Given the description of an element on the screen output the (x, y) to click on. 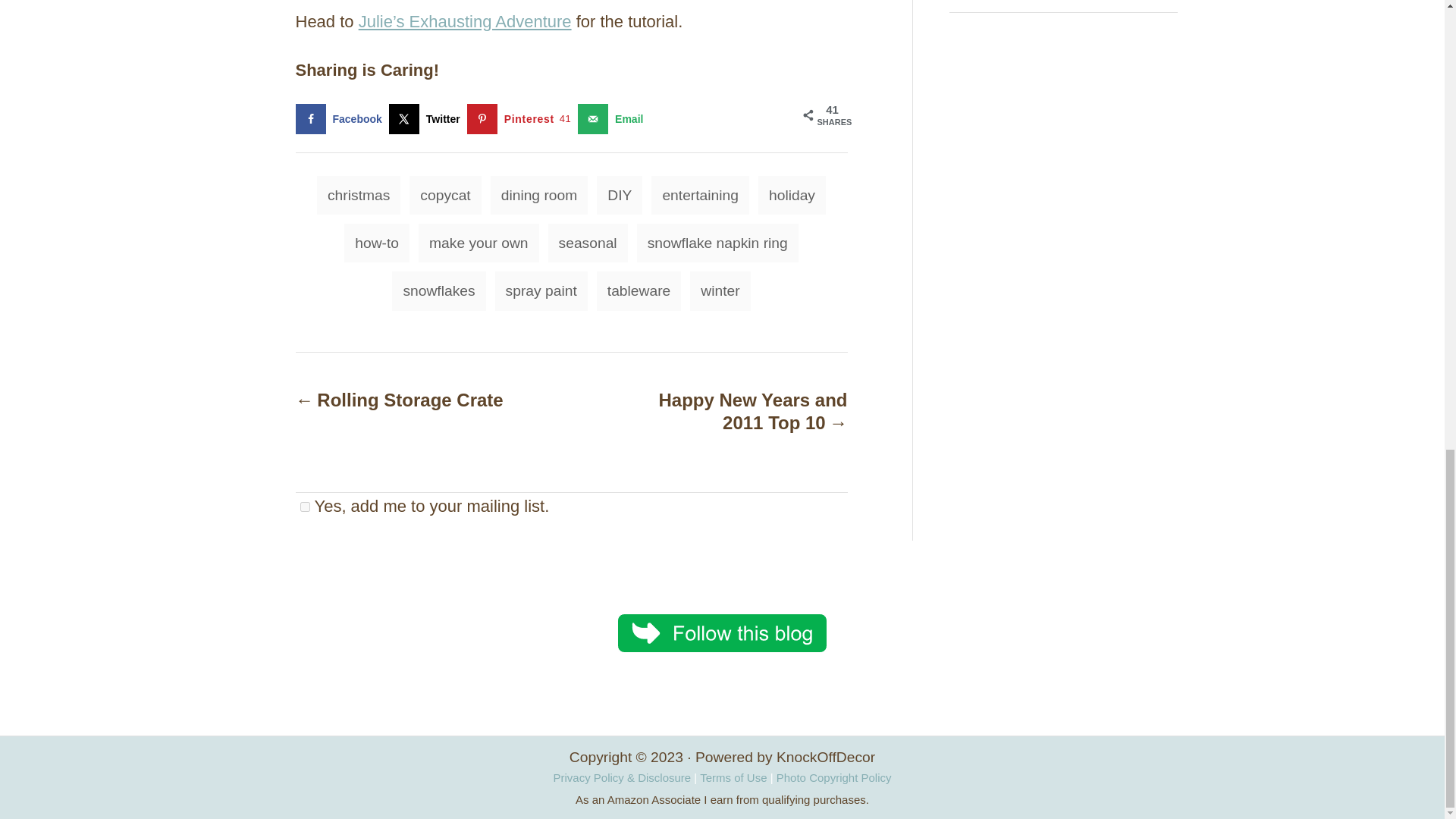
1 (304, 506)
Save to Pinterest (522, 119)
Share on X (427, 119)
Share on Facebook (341, 119)
Send over email (613, 119)
